Given the description of an element on the screen output the (x, y) to click on. 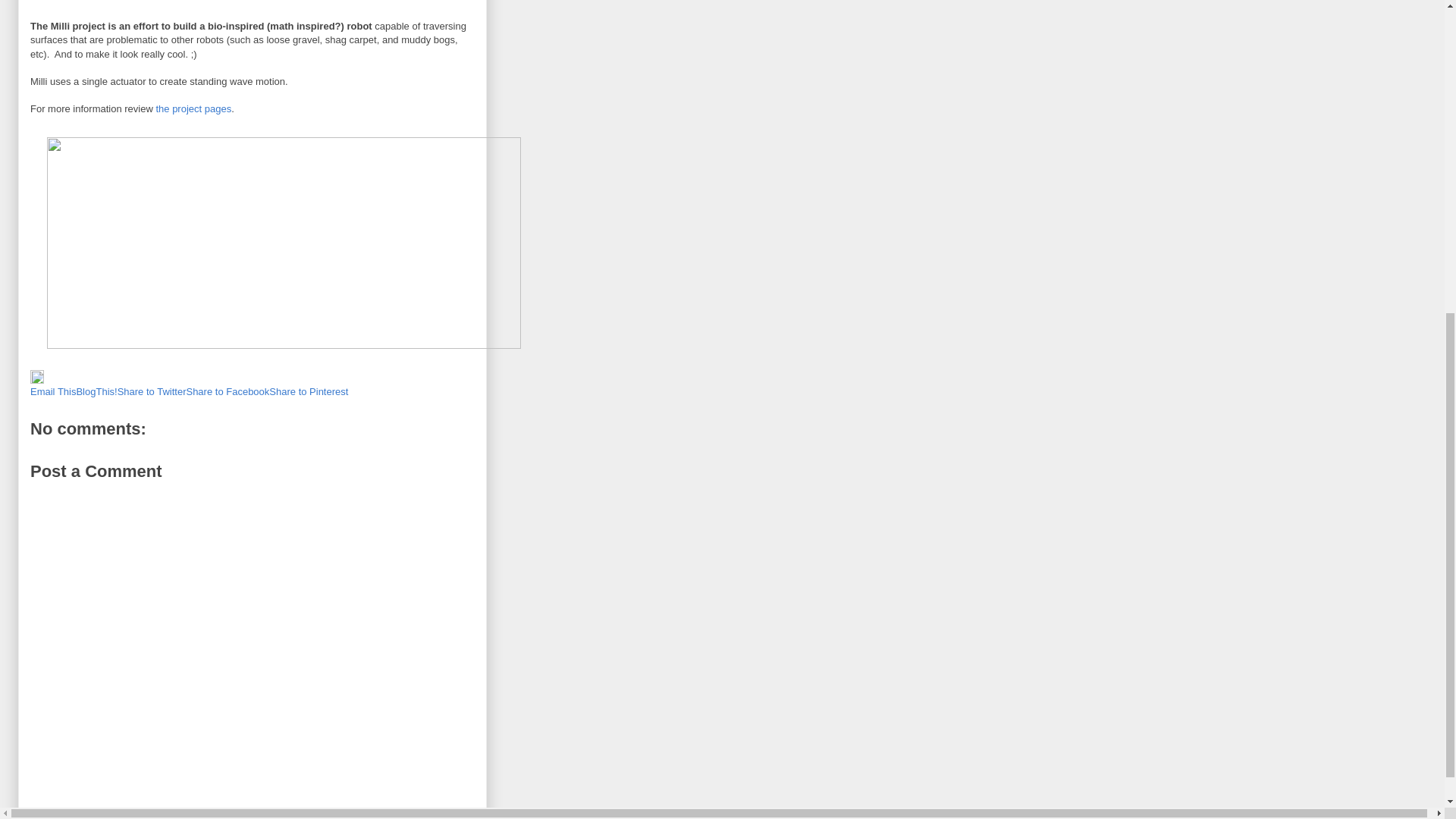
BlogThis! (95, 391)
BlogThis! (95, 391)
Share to Pinterest (308, 391)
Email This (52, 391)
Share to Facebook (227, 391)
Share to Pinterest (308, 391)
Share to Facebook (227, 391)
Email This (52, 391)
Edit Page (36, 379)
Share to Twitter (151, 391)
